Given the description of an element on the screen output the (x, y) to click on. 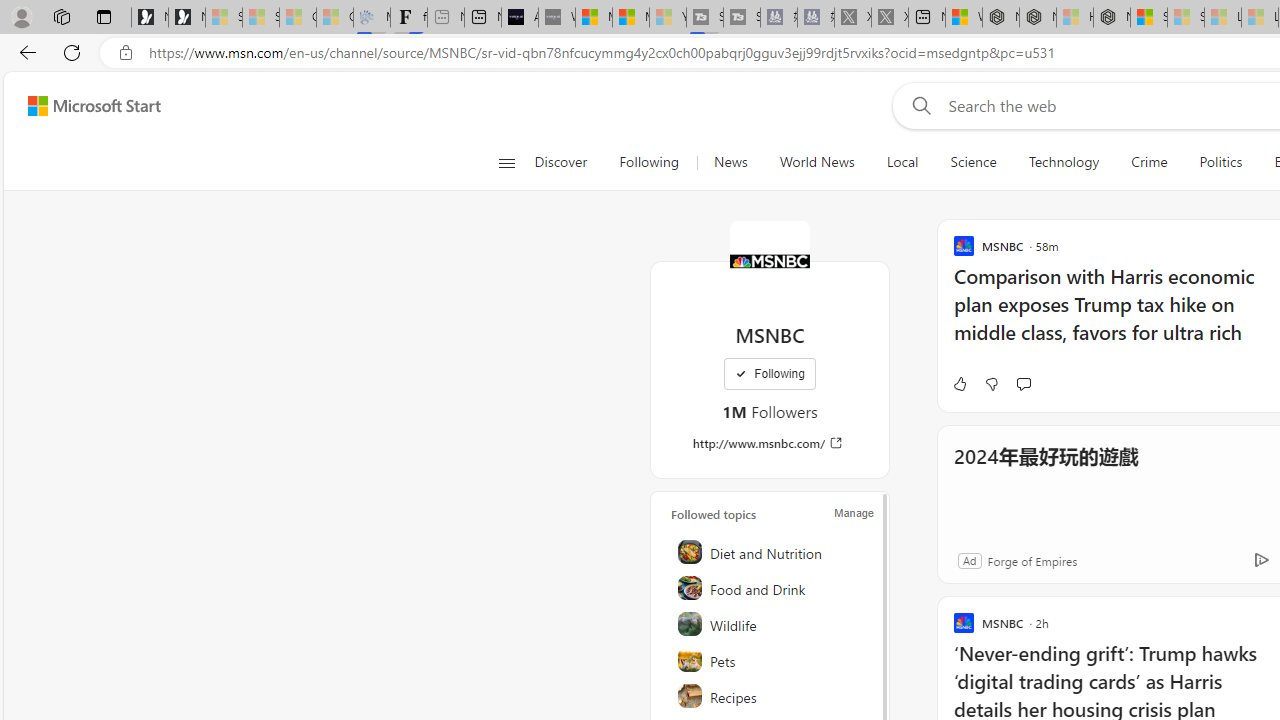
Recipes (771, 695)
Politics (1220, 162)
Forge of Empires (1031, 560)
Pets (771, 659)
AI Voice Changer for PC and Mac - Voice.ai (519, 17)
